Given the description of an element on the screen output the (x, y) to click on. 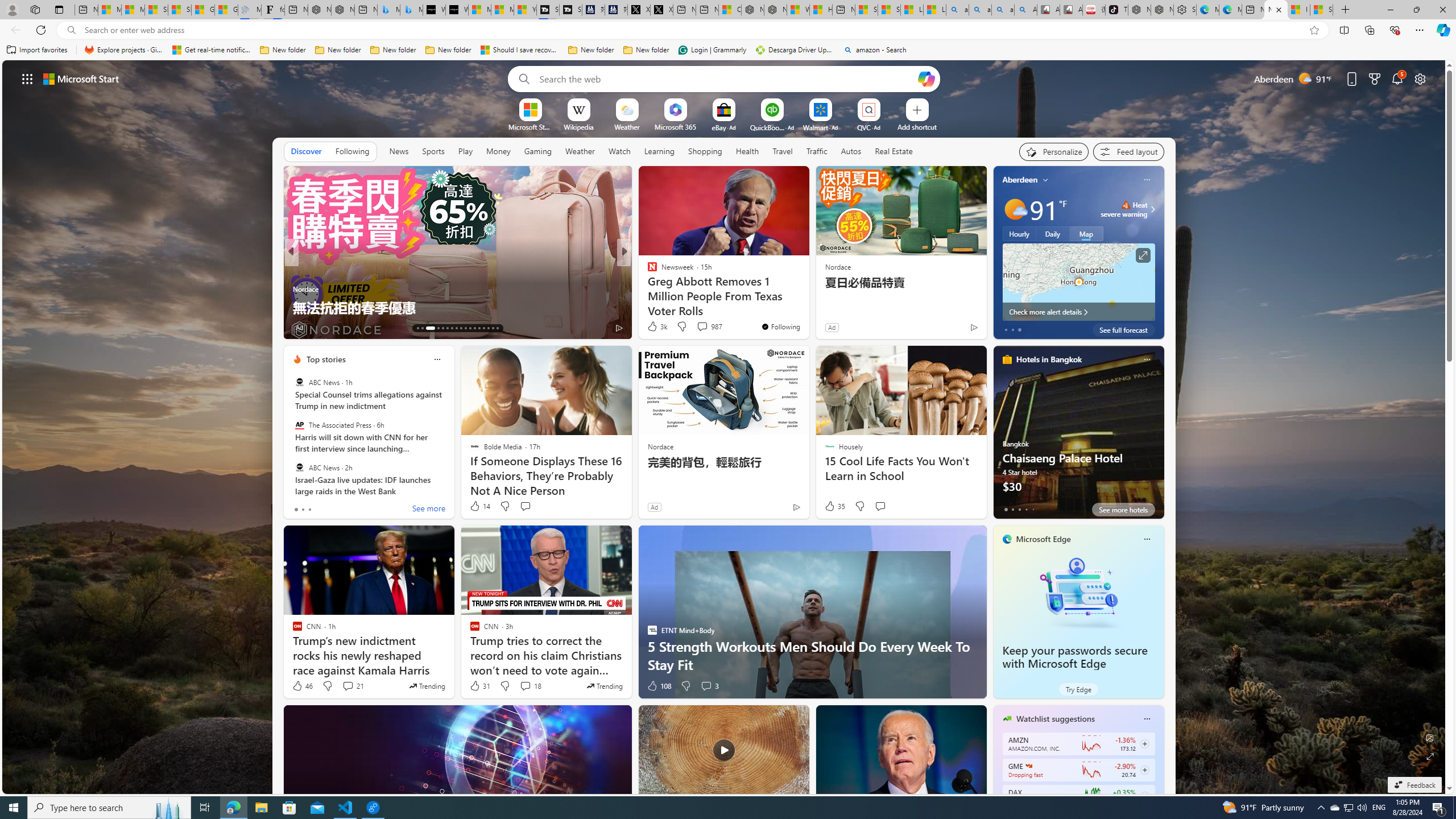
View comments 987 Comment (701, 326)
Click to see more information (1142, 255)
Watchlist suggestions (1055, 718)
CBS News (Video) (647, 270)
Hide this story (774, 179)
Microsoft Edge (1043, 538)
Aberdeen (1019, 179)
AutomationID: tab-14 (422, 328)
Top stories (325, 359)
